Given the description of an element on the screen output the (x, y) to click on. 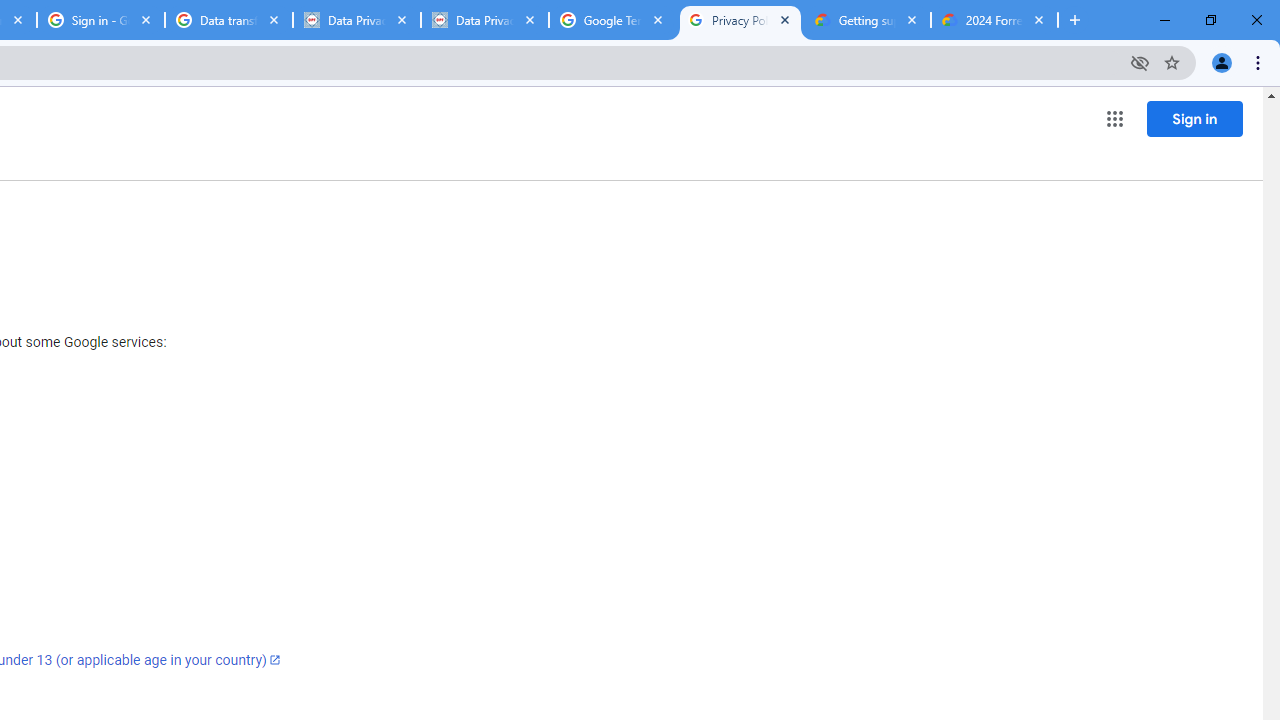
Sign in - Google Accounts (101, 20)
Data Privacy Framework (357, 20)
